Given the description of an element on the screen output the (x, y) to click on. 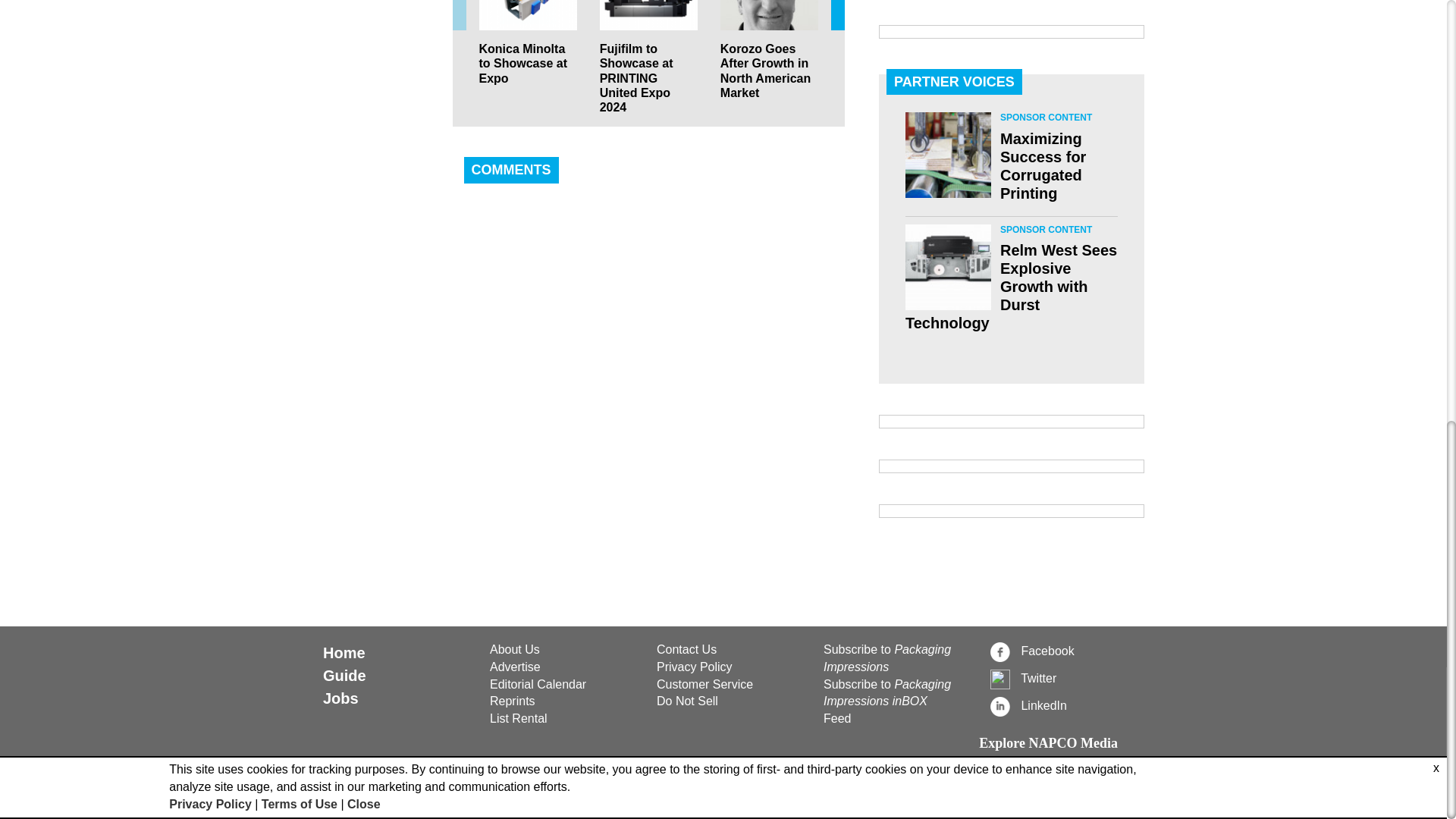
Opens in a new window (731, 701)
Opens in a new window (1065, 705)
Opens in a new window (1065, 650)
Opens in a new window (731, 684)
Opens in a new window (731, 667)
Opens in a new window (1065, 678)
